Given the description of an element on the screen output the (x, y) to click on. 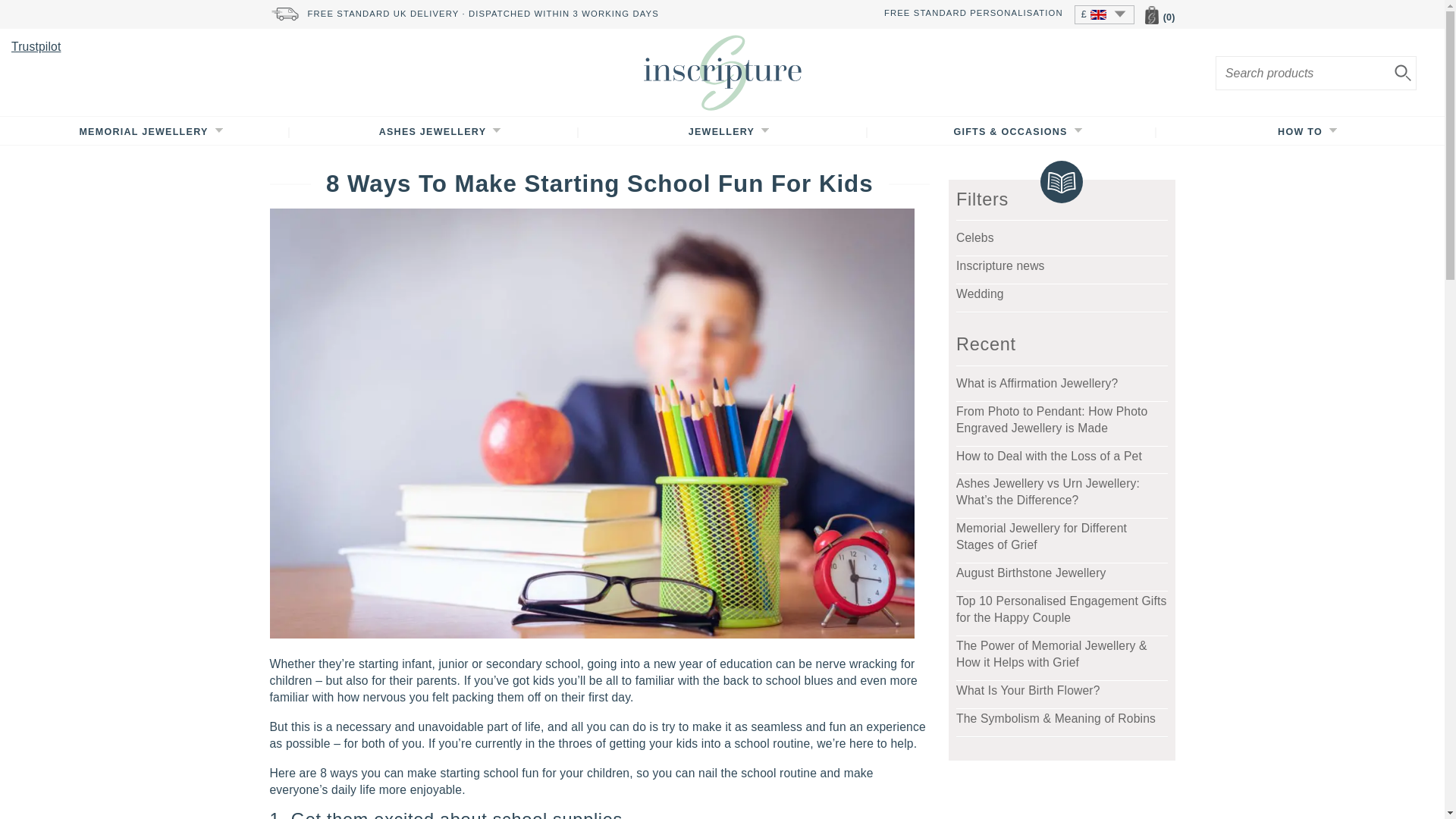
MEMORIAL JEWELLERY (143, 131)
Trustpilot (36, 46)
Inscripture (721, 72)
ASHES JEWELLERY (432, 131)
SEARCH (1403, 73)
